Given the description of an element on the screen output the (x, y) to click on. 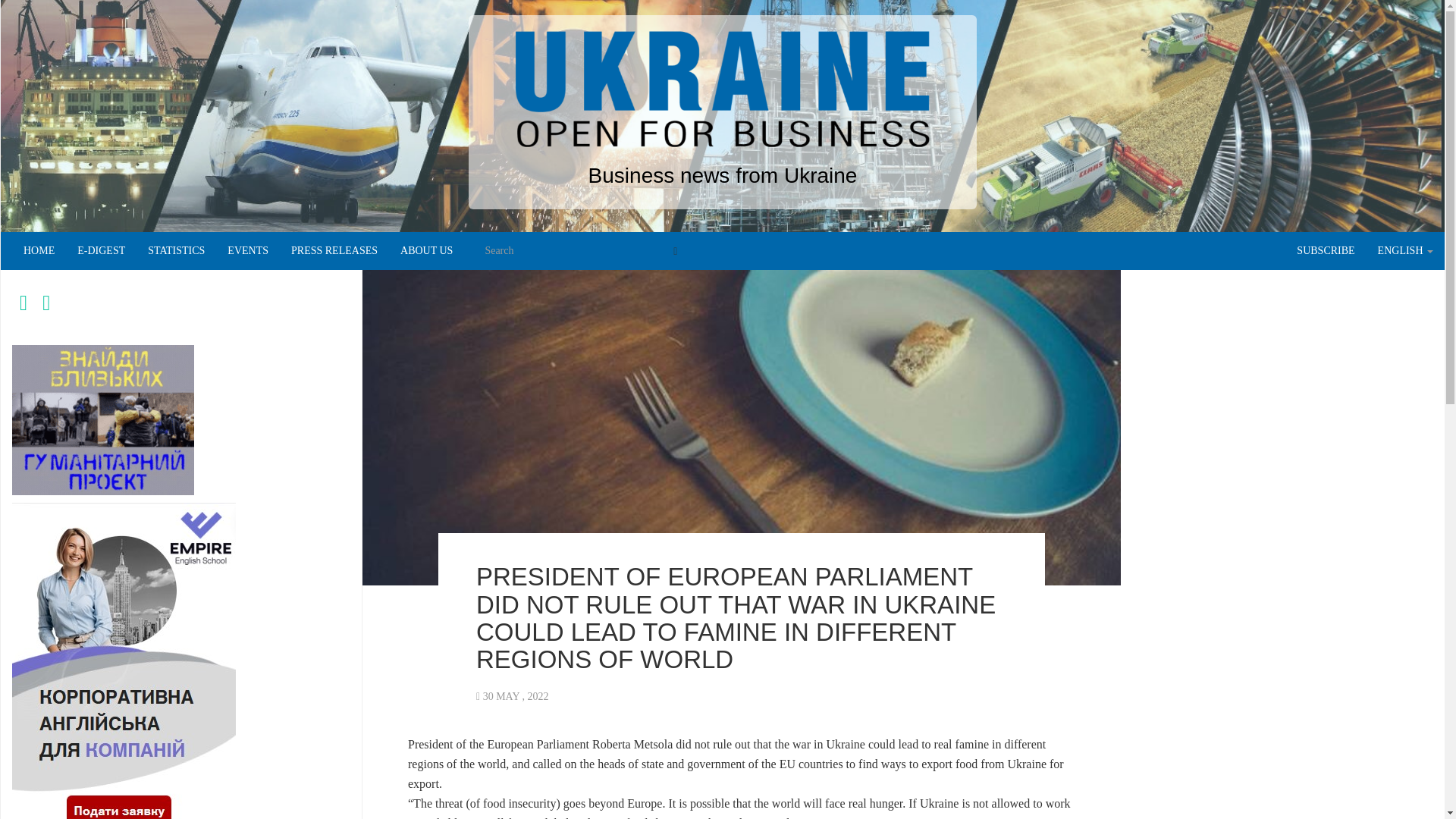
Subscribe (1325, 250)
ABOUT US (426, 250)
E-digest (100, 250)
SUBSCRIBE (1325, 250)
HOME (38, 250)
Events (247, 250)
Home (38, 250)
EVENTS (247, 250)
STATISTICS (175, 250)
About us (426, 250)
E-DIGEST (100, 250)
PRESS RELEASES (333, 250)
PRESS RELEASES (333, 250)
Statistics (175, 250)
